Given the description of an element on the screen output the (x, y) to click on. 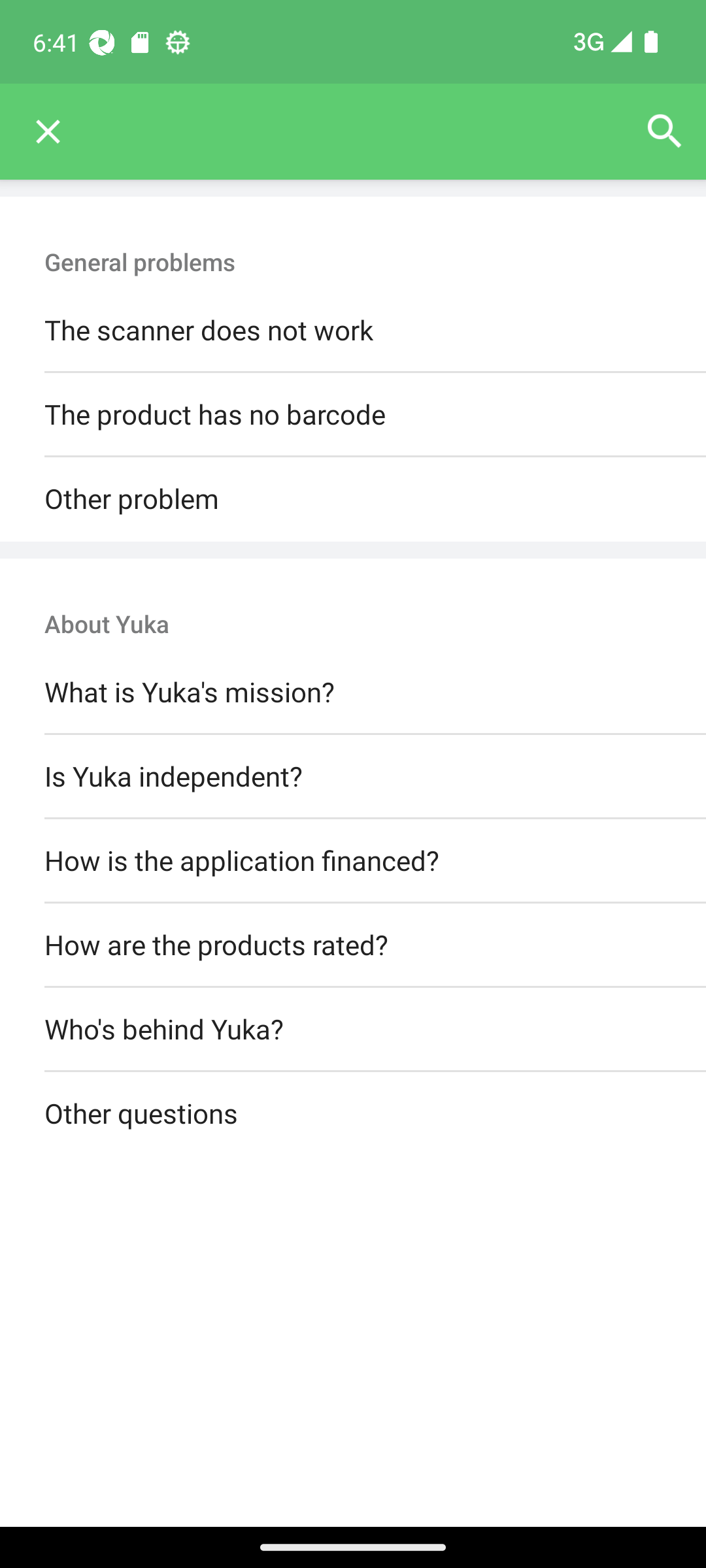
Search (664, 131)
The scanner does not work (353, 330)
The product has no barcode (353, 415)
Other problem (353, 498)
What is Yuka's mission? (353, 692)
Is Yuka independent? (353, 776)
How is the application financed? (353, 860)
How are the products rated? (353, 945)
Who's behind Yuka? (353, 1029)
Other questions (353, 1114)
